Given the description of an element on the screen output the (x, y) to click on. 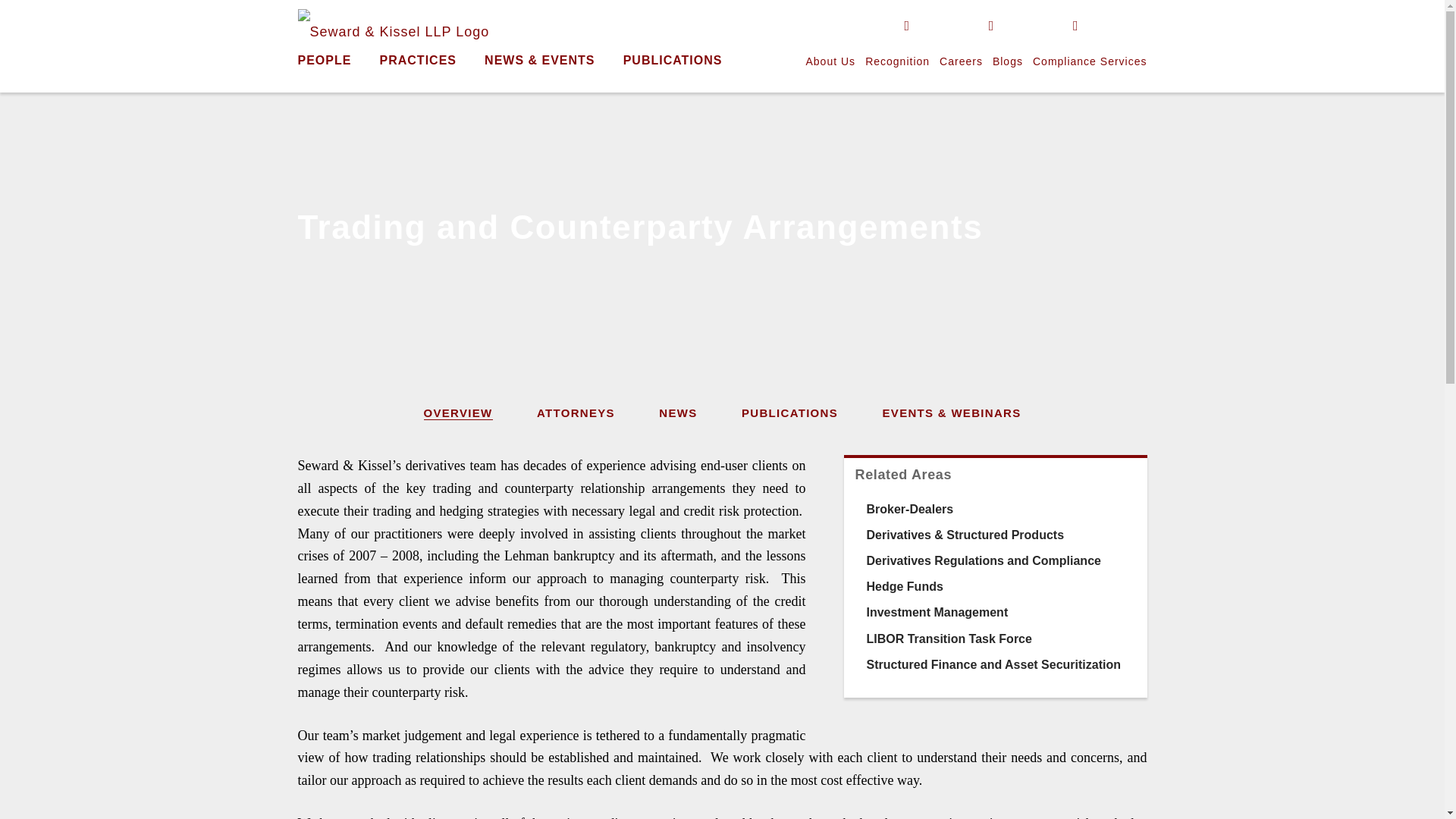
Blogs (1007, 61)
PUBLICATIONS (789, 412)
Investment Management (936, 612)
Hedge Funds (904, 585)
Broker-Dealers (909, 508)
PRACTICES (418, 60)
NEWS (678, 412)
Compliance Services (1089, 61)
PEOPLE (323, 60)
ATTORNEYS (575, 412)
Careers (960, 61)
OVERVIEW (458, 413)
Structured Finance and Asset Securitization (992, 664)
Recognition (897, 61)
LIBOR Transition Task Force (948, 638)
